Given the description of an element on the screen output the (x, y) to click on. 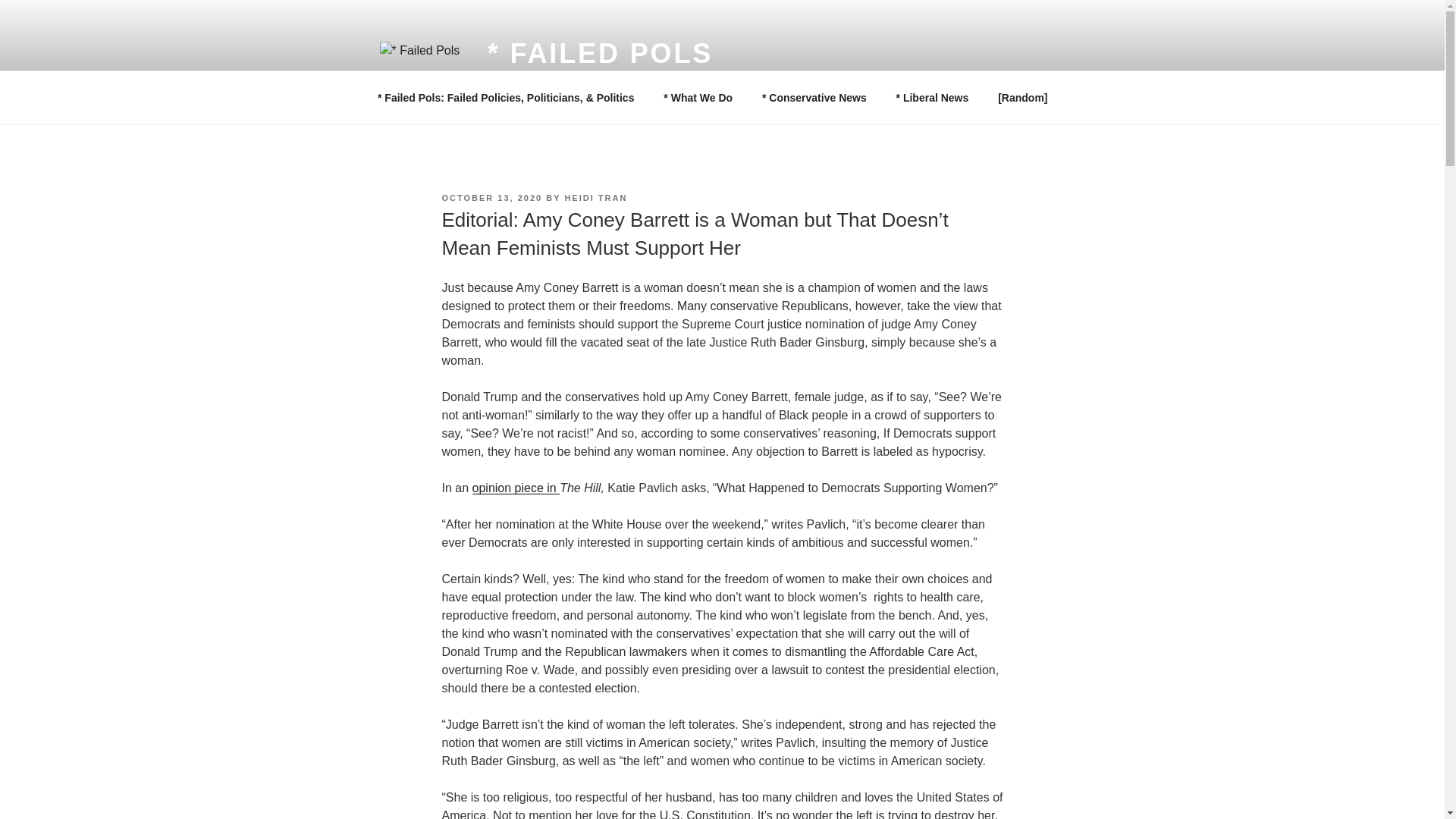
OCTOBER 13, 2020 (491, 197)
opinion piece in  (515, 487)
HEIDI TRAN (595, 197)
